Given the description of an element on the screen output the (x, y) to click on. 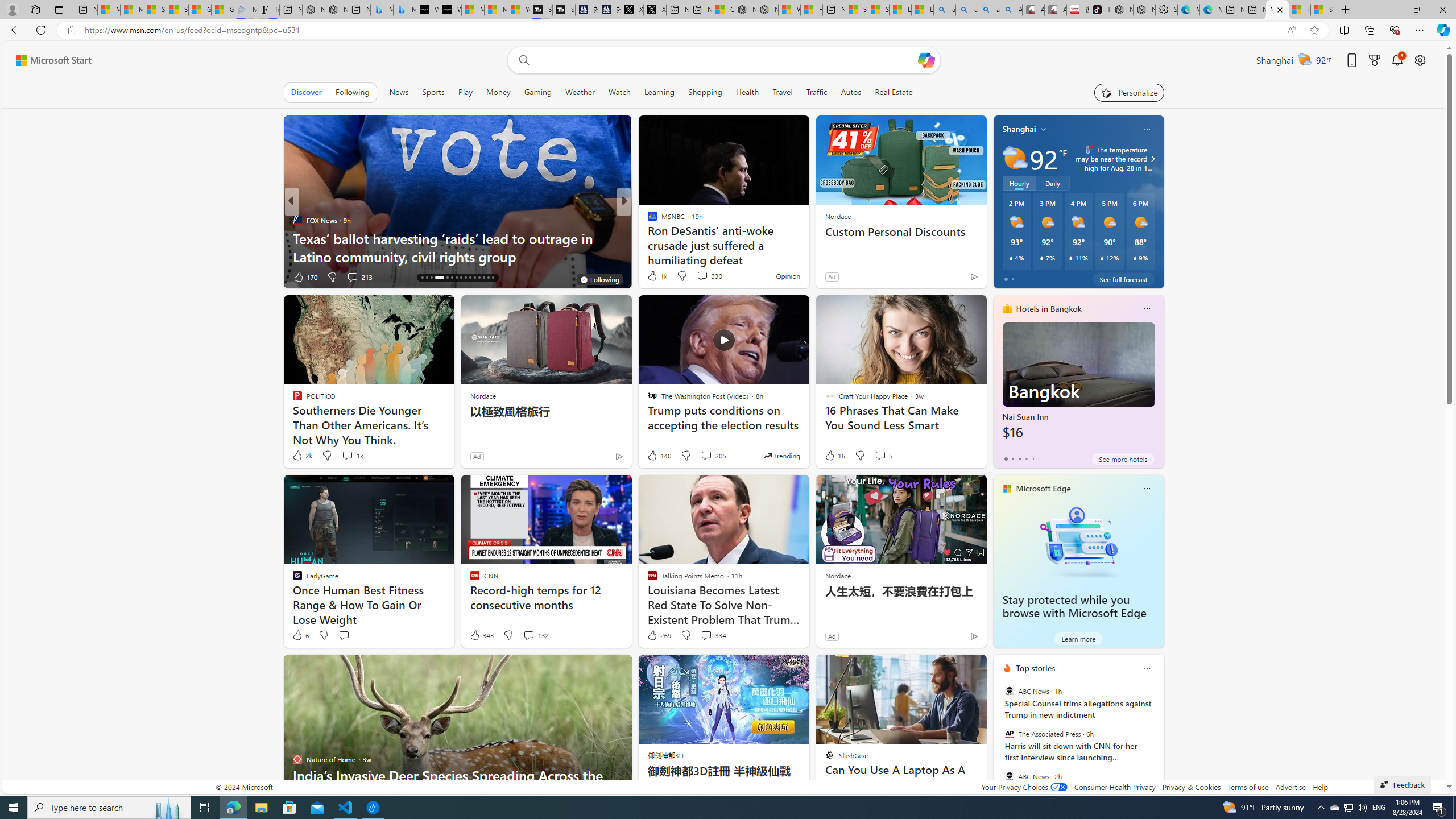
View comments 96 Comment (703, 276)
AutomationID: tab-27 (478, 277)
Weather (580, 92)
Dangerous heat to head to Northeast after slamming Midwest (807, 247)
View comments 5 Comment (879, 455)
tab-2 (1019, 458)
181 Like (654, 276)
View comments 266 Comment (703, 276)
Play (465, 92)
View comments 1k Comment (352, 455)
